Given the description of an element on the screen output the (x, y) to click on. 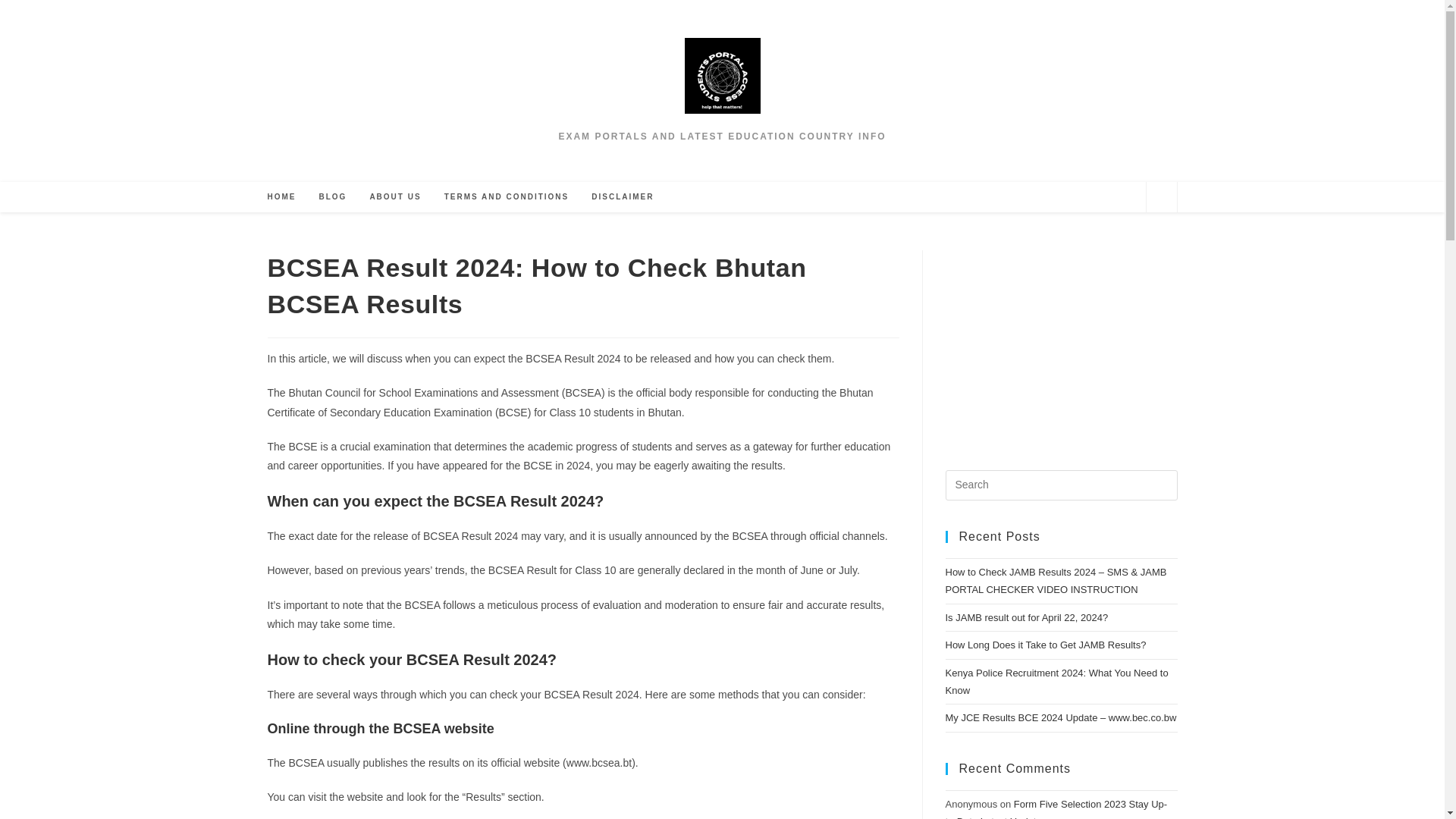
BLOG (332, 196)
How Long Does it Take to Get JAMB Results? (1044, 644)
HOME (281, 196)
Kenya Police Recruitment 2024: What You Need to Know (1055, 681)
DISCLAIMER (622, 196)
TERMS AND CONDITIONS (506, 196)
Form Five Selection 2023 Stay Up-to-Date Latest Updates (1055, 808)
Advertisement (1069, 344)
ABOUT US (395, 196)
Is JAMB result out for April 22, 2024? (1026, 617)
